Given the description of an element on the screen output the (x, y) to click on. 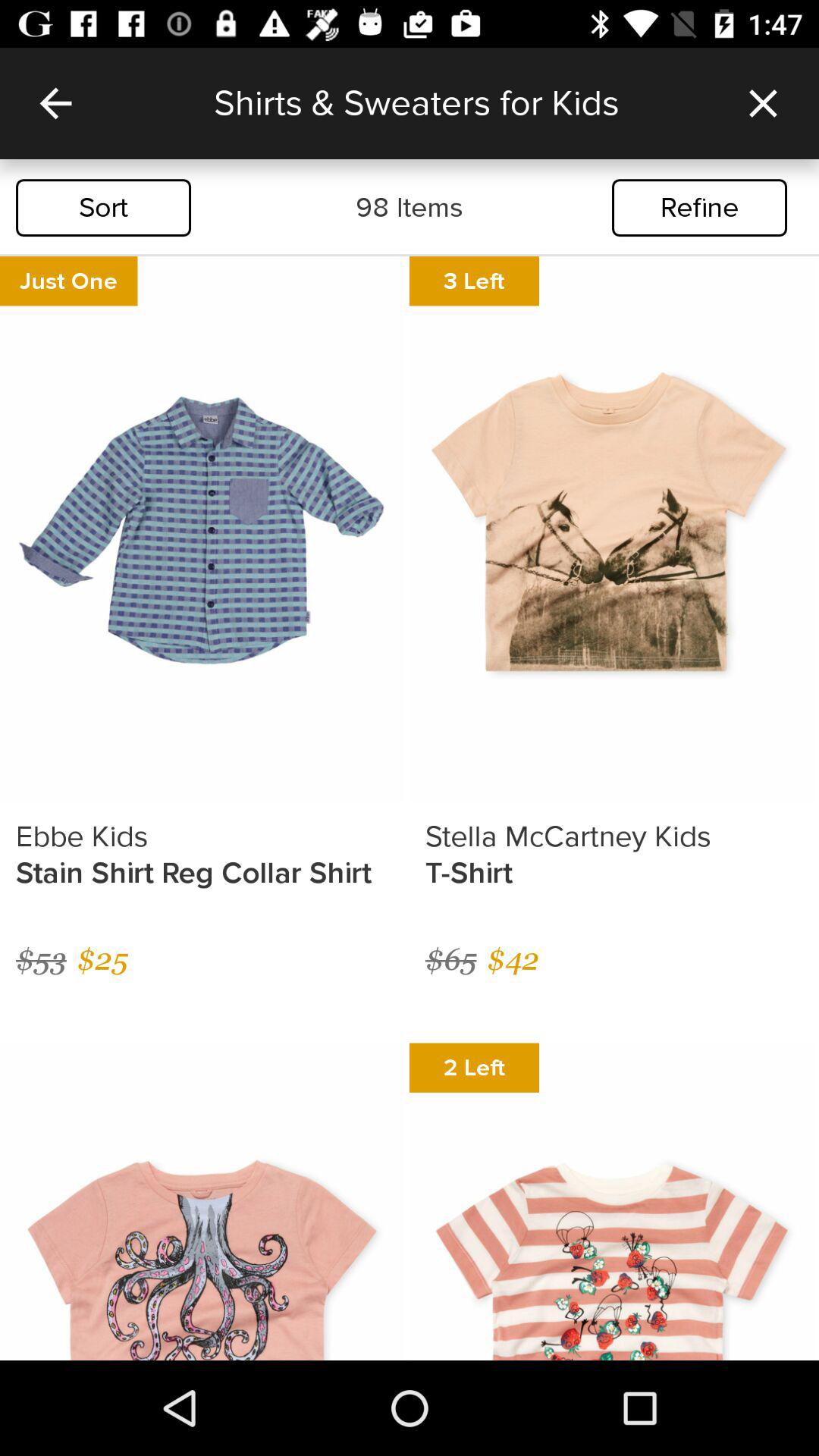
select the second image (611, 529)
select the text above 98 items (460, 102)
select the text next to the sort (409, 207)
